Given the description of an element on the screen output the (x, y) to click on. 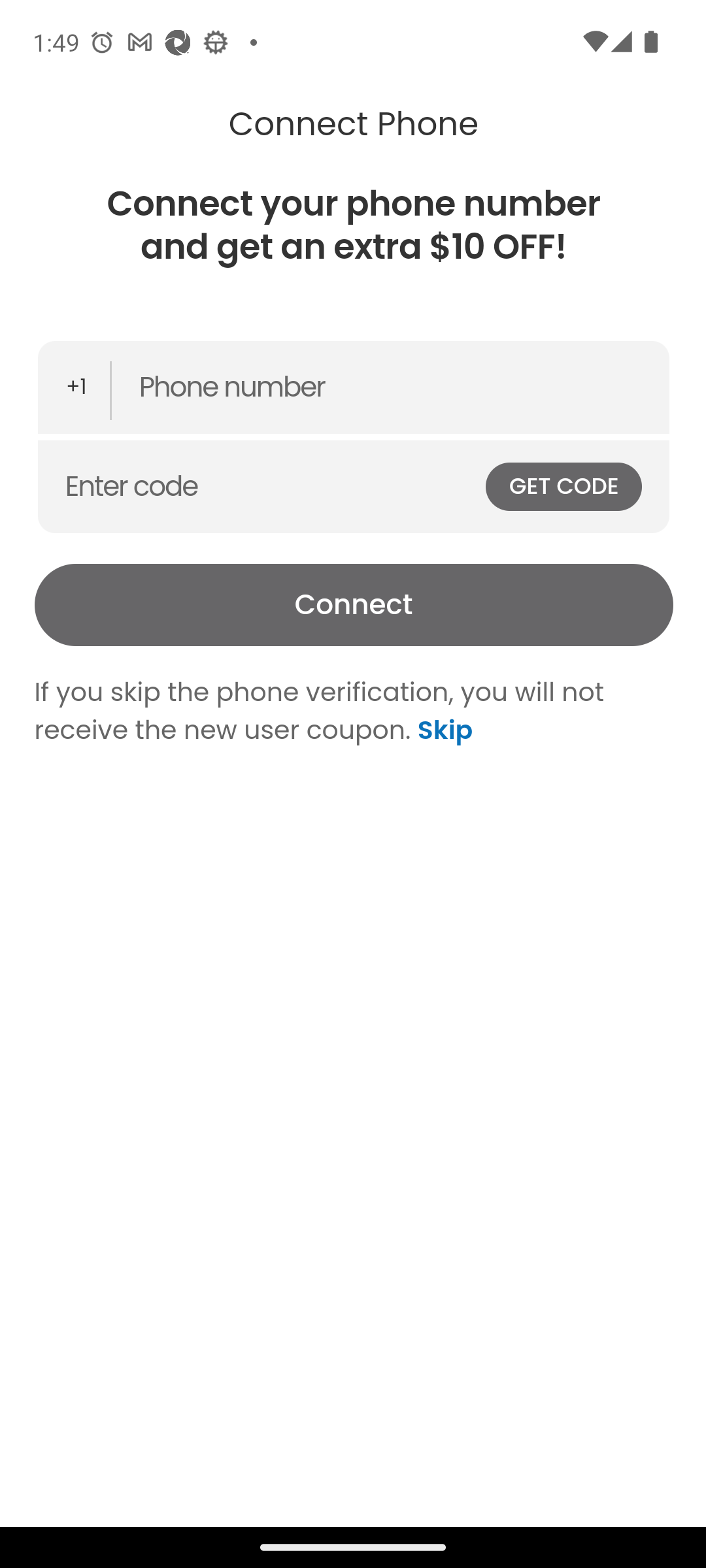
GET CODE (564, 486)
Connect (352, 605)
Skip (441, 729)
